Given the description of an element on the screen output the (x, y) to click on. 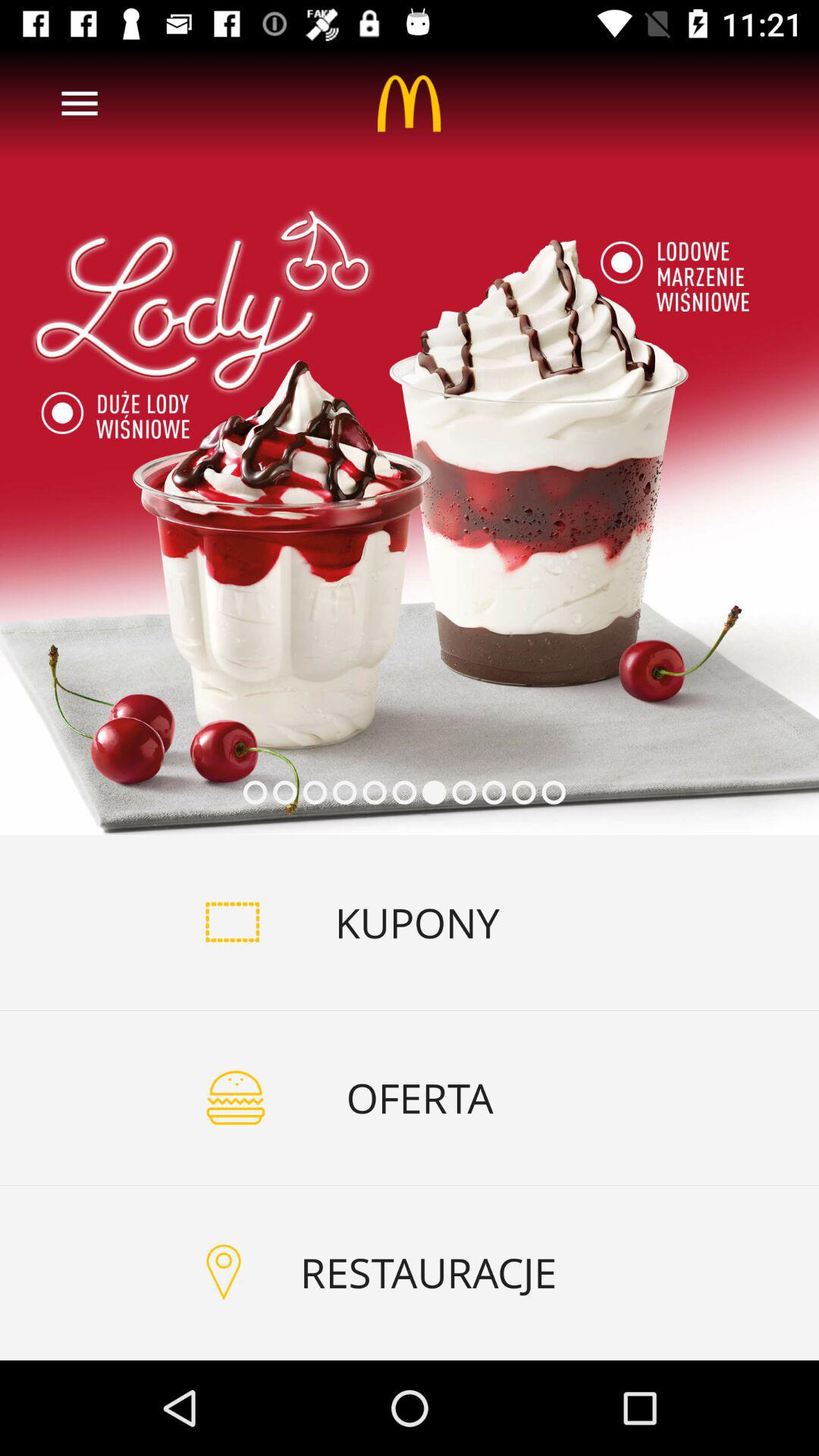
go to menu (79, 103)
